Given the description of an element on the screen output the (x, y) to click on. 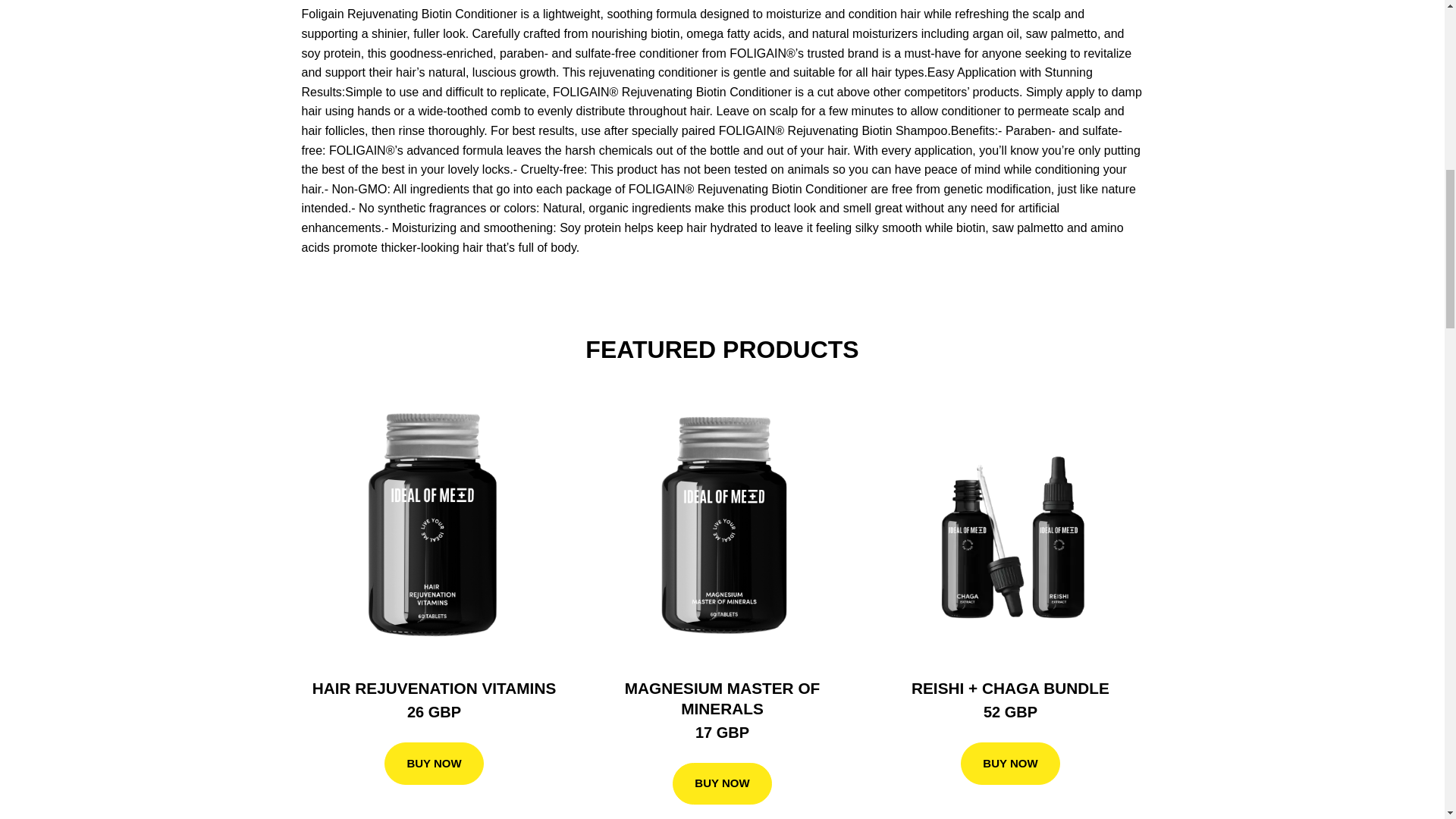
BUY NOW (721, 783)
BUY NOW (433, 763)
BUY NOW (1009, 763)
HAIR REJUVENATION VITAMINS (434, 687)
MAGNESIUM MASTER OF MINERALS (722, 698)
